Given the description of an element on the screen output the (x, y) to click on. 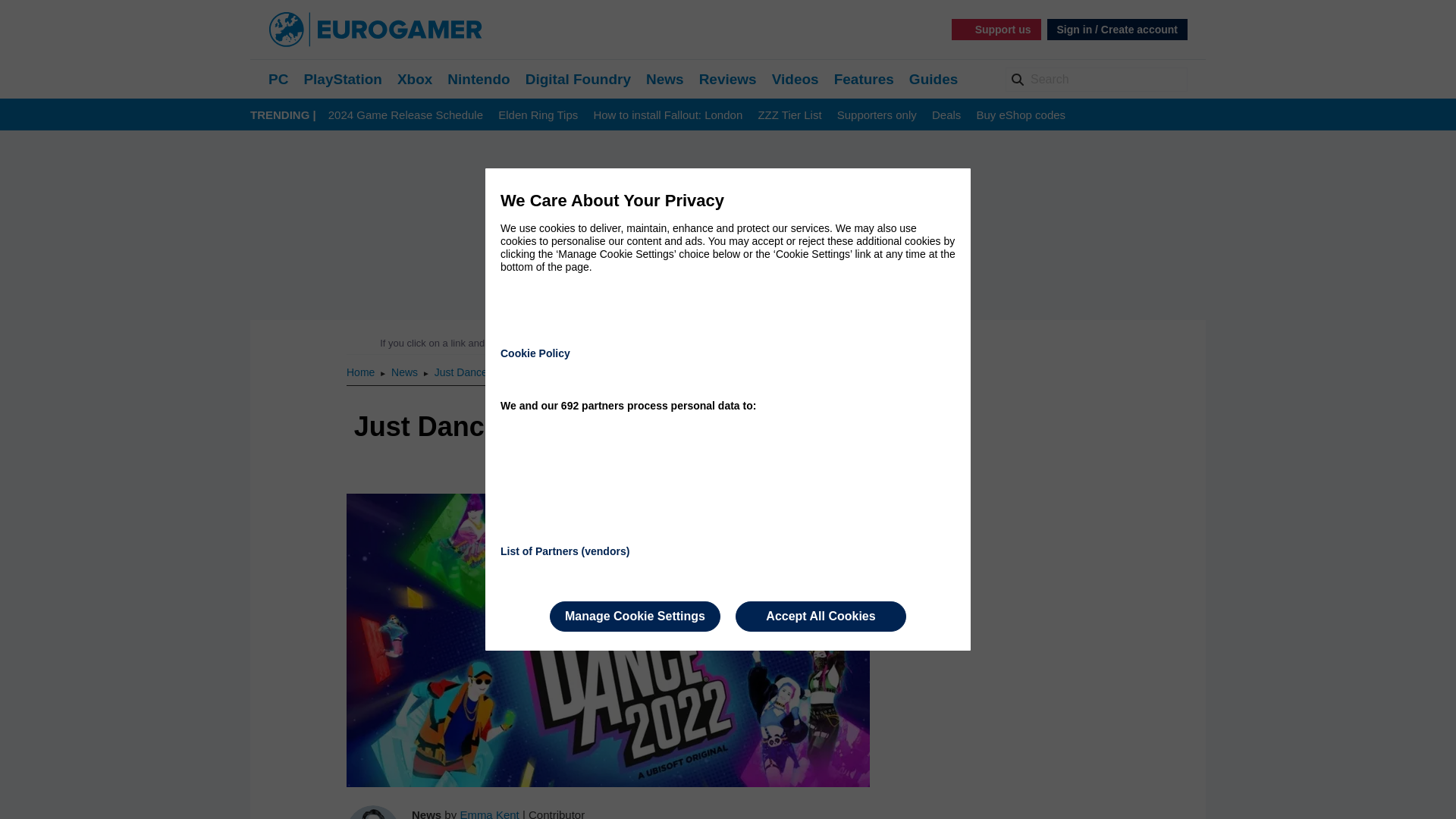
Supporters only (877, 114)
How to install Fallout: London (667, 114)
Nintendo (477, 78)
Xbox (414, 78)
Supporters only (877, 114)
Elden Ring Tips (537, 114)
Videos (794, 78)
Emma Kent (489, 813)
Deals (945, 114)
Guides (933, 78)
2024 Game Release Schedule (406, 114)
Guides (933, 78)
Support us (996, 29)
News (665, 78)
ZZZ Tier List (789, 114)
